Given the description of an element on the screen output the (x, y) to click on. 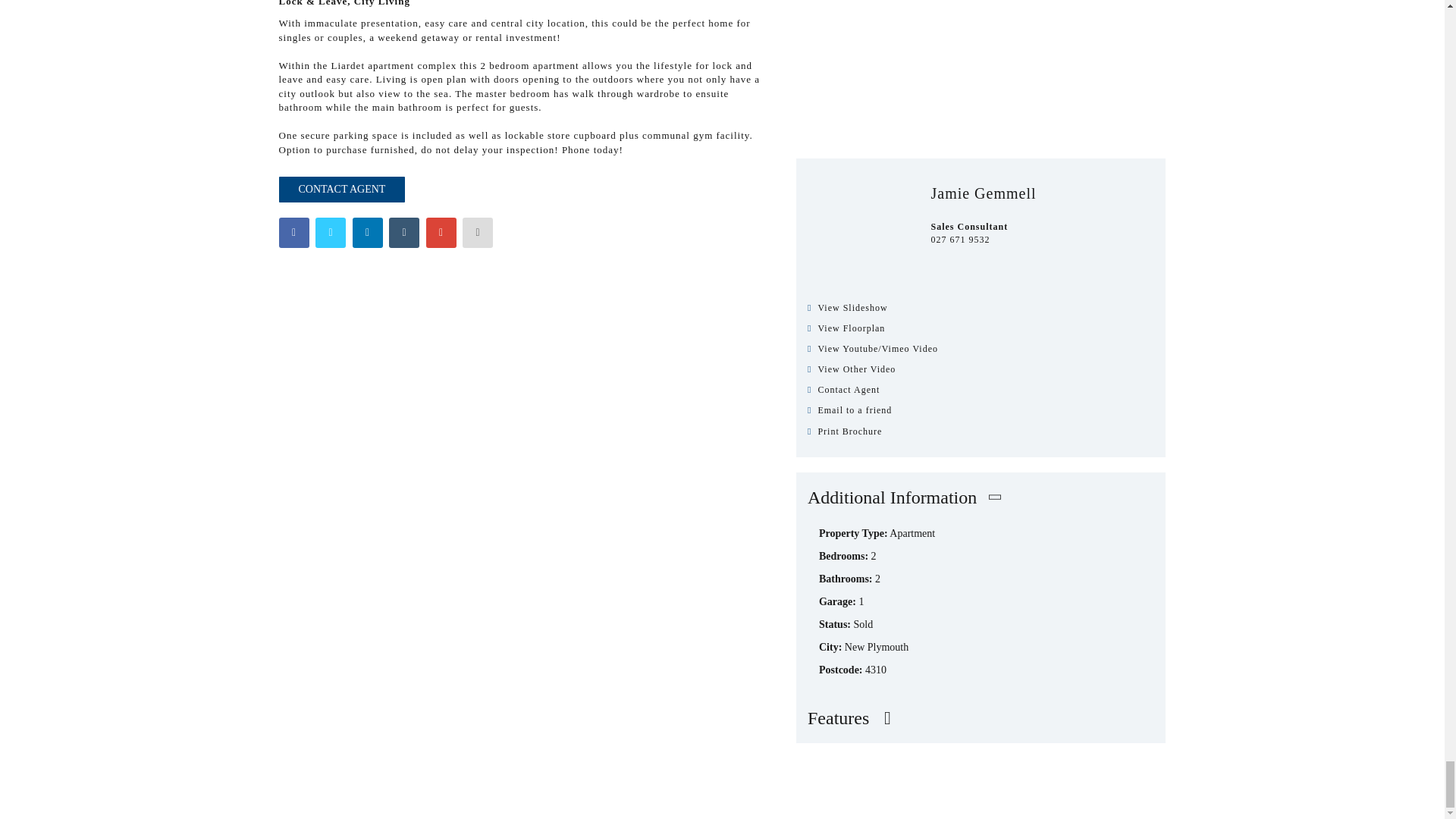
Print Brochure (981, 431)
View Floorplan (981, 328)
Email to a friend (981, 410)
View Slideshow (981, 308)
Share on Twitter (330, 232)
CONTACT AGENT (342, 189)
Share on LinkedIn (366, 232)
Contact Agent (981, 390)
View Other Video (981, 369)
Share on Google plus (441, 232)
